Given the description of an element on the screen output the (x, y) to click on. 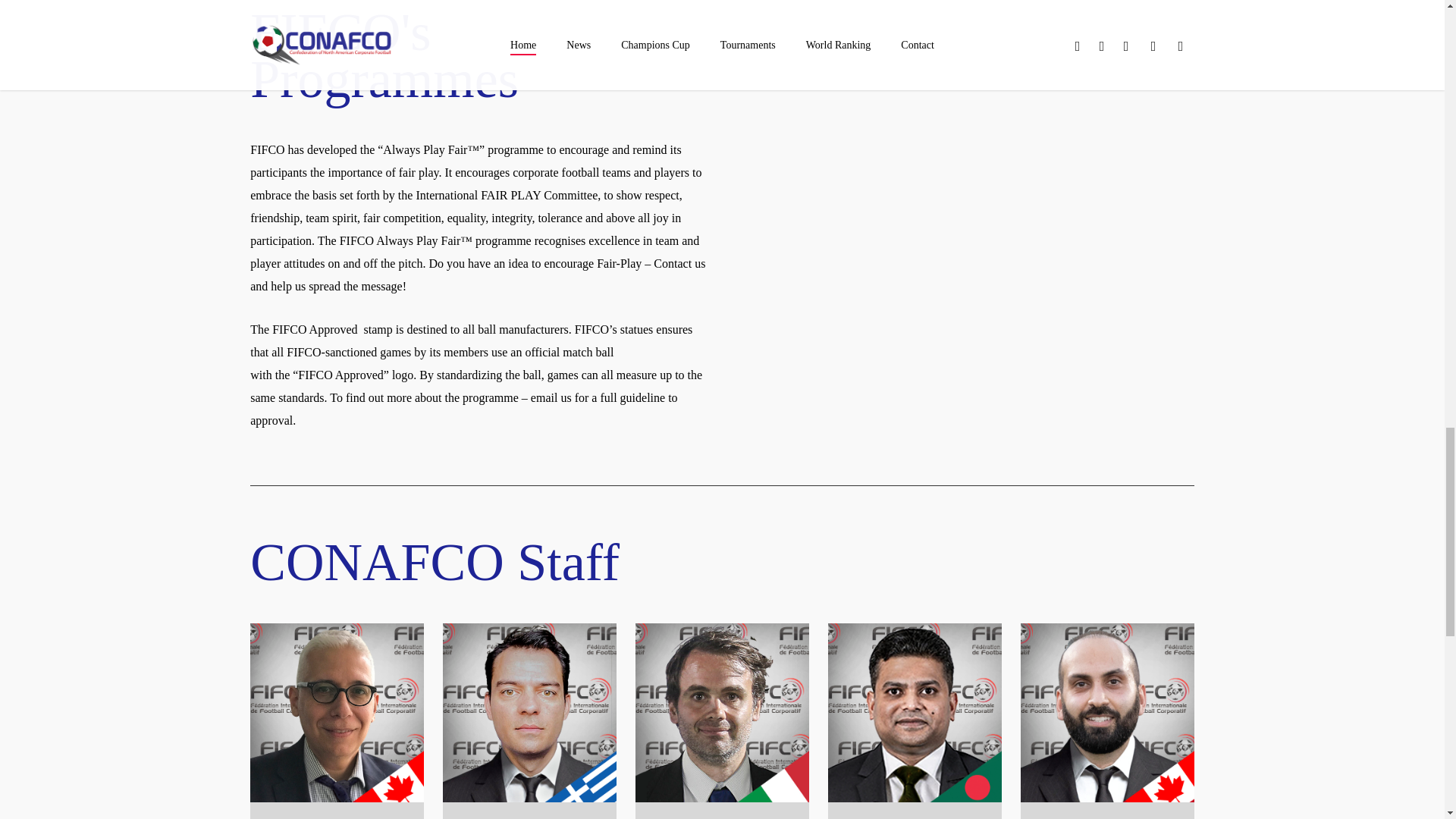
Albert ZBILY (336, 712)
Daniel CURCIO (721, 712)
Johnny KAMARIARIS (528, 712)
MD Imranur RAHMAN (914, 712)
Payam KASHANI (1106, 712)
